Given the description of an element on the screen output the (x, y) to click on. 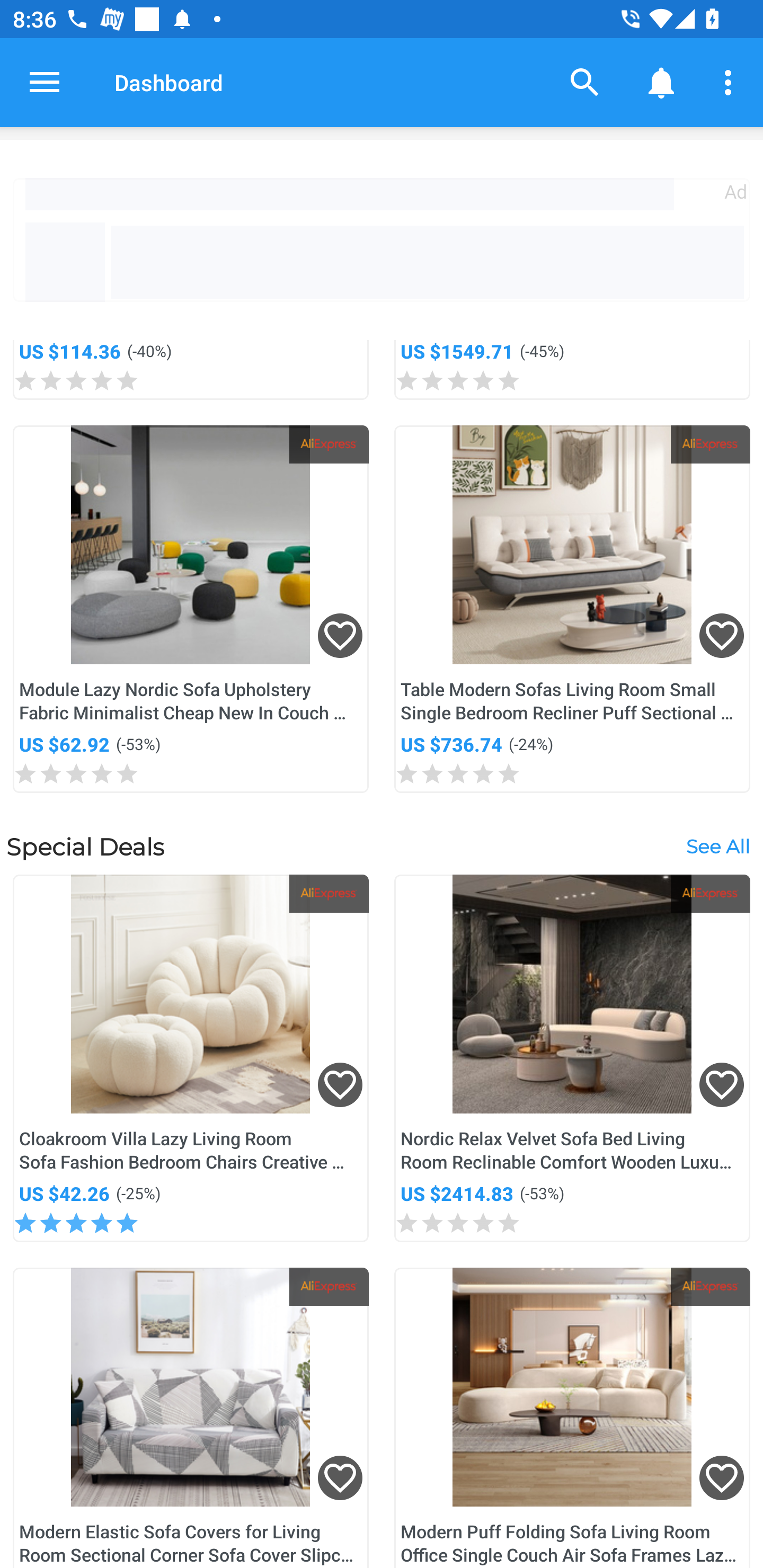
Open navigation drawer (44, 82)
Search (585, 81)
More options (731, 81)
US $114.36 (-40%) 0.0 (190, 369)
US $1549.71 (-45%) 0.0 (572, 369)
See All (717, 846)
